Given the description of an element on the screen output the (x, y) to click on. 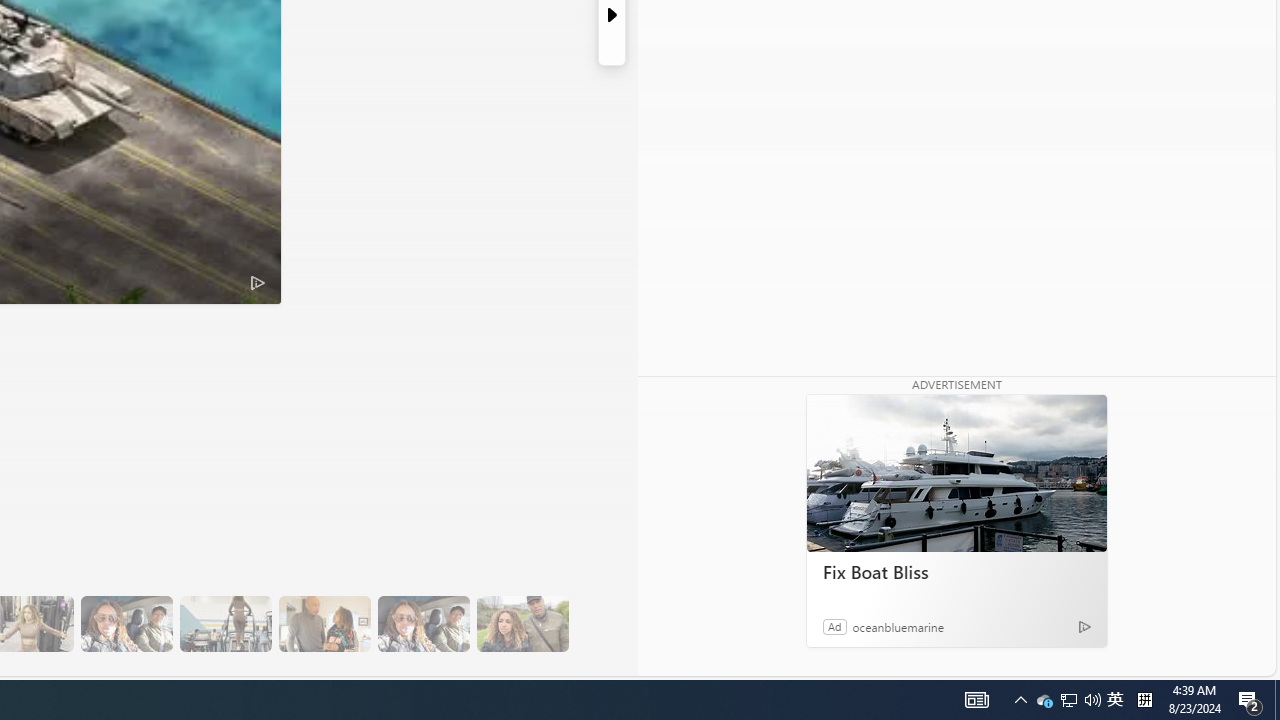
Fix Boat Bliss (956, 571)
18 It's More Fun Doing It with Someone Else (324, 624)
